Given the description of an element on the screen output the (x, y) to click on. 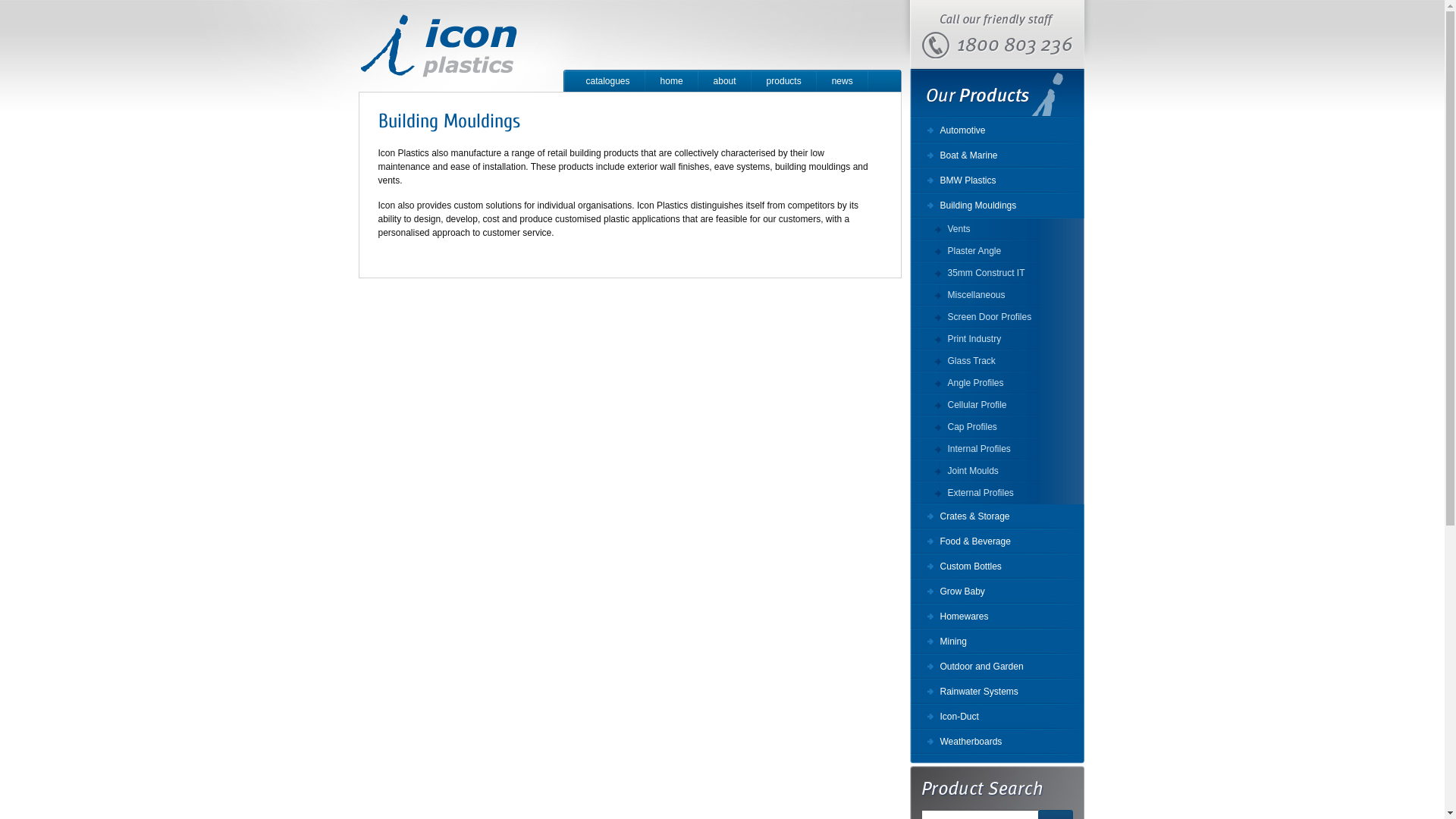
Vents Element type: text (997, 229)
Icon-Duct Element type: text (997, 716)
Food & Beverage Element type: text (997, 541)
home Element type: text (671, 81)
Angle Profiles Element type: text (997, 383)
BMW Plastics Element type: text (997, 180)
Screen Door Profiles Element type: text (997, 317)
Cellular Profile Element type: text (997, 405)
Glass Track Element type: text (997, 361)
Boat & Marine Element type: text (997, 155)
Miscellaneous Element type: text (997, 295)
products Element type: text (783, 81)
about Element type: text (724, 81)
catalogues Element type: text (607, 81)
Joint Moulds Element type: text (997, 471)
Automotive Element type: text (997, 130)
External Profiles Element type: text (997, 493)
Plaster Angle Element type: text (997, 251)
Custom Bottles Element type: text (997, 566)
Outdoor and Garden Element type: text (997, 666)
Homewares Element type: text (997, 616)
Cap Profiles Element type: text (997, 427)
Crates & Storage Element type: text (997, 516)
Rainwater Systems Element type: text (997, 691)
news Element type: text (842, 81)
Weatherboards Element type: text (997, 741)
Internal Profiles Element type: text (997, 449)
Mining Element type: text (997, 641)
Print Industry Element type: text (997, 339)
Grow Baby Element type: text (997, 591)
35mm Construct IT Element type: text (997, 273)
Building Mouldings Element type: text (997, 205)
